Given the description of an element on the screen output the (x, y) to click on. 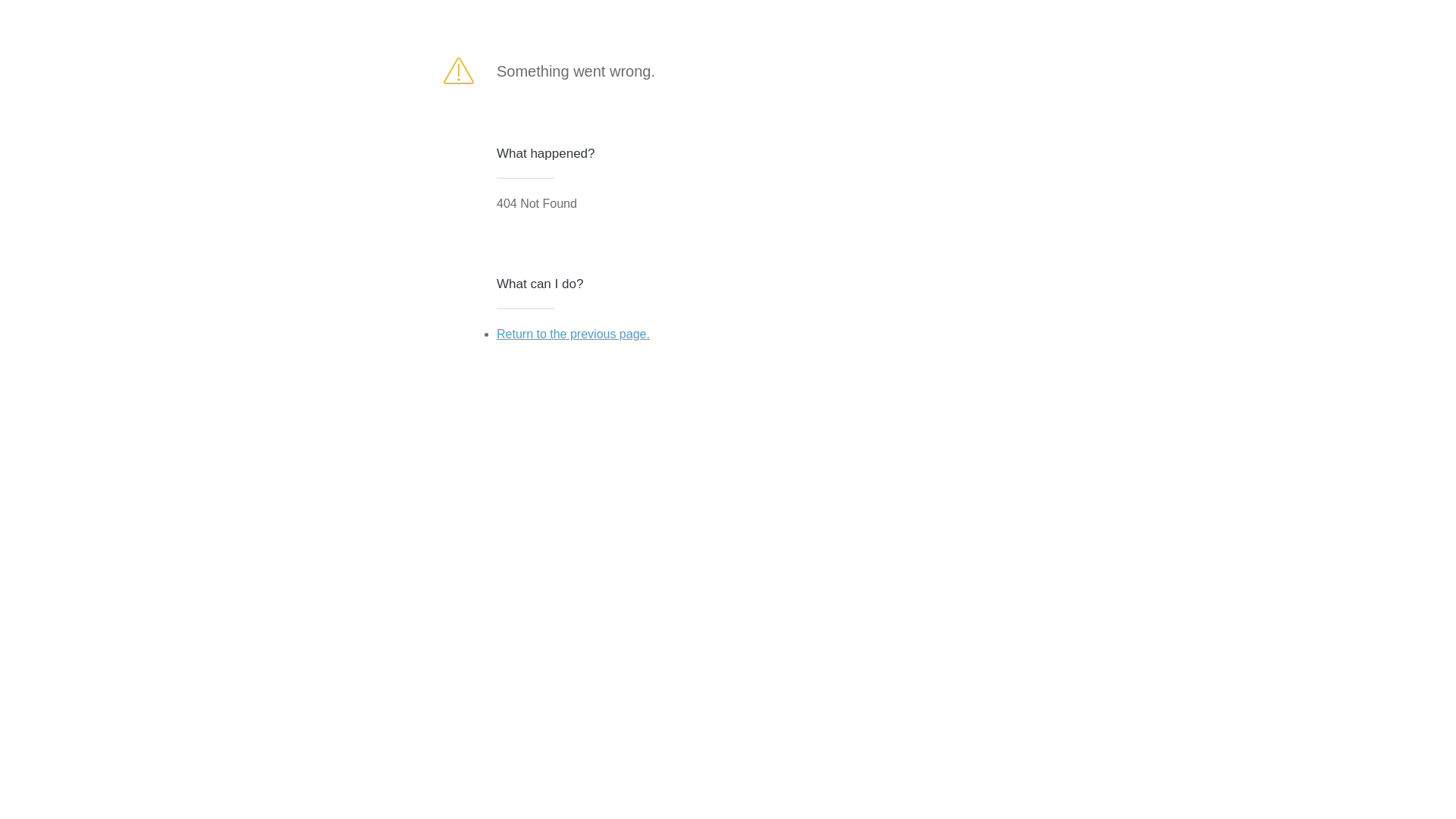
Return to the previous page. Element type: text (572, 333)
